Given the description of an element on the screen output the (x, y) to click on. 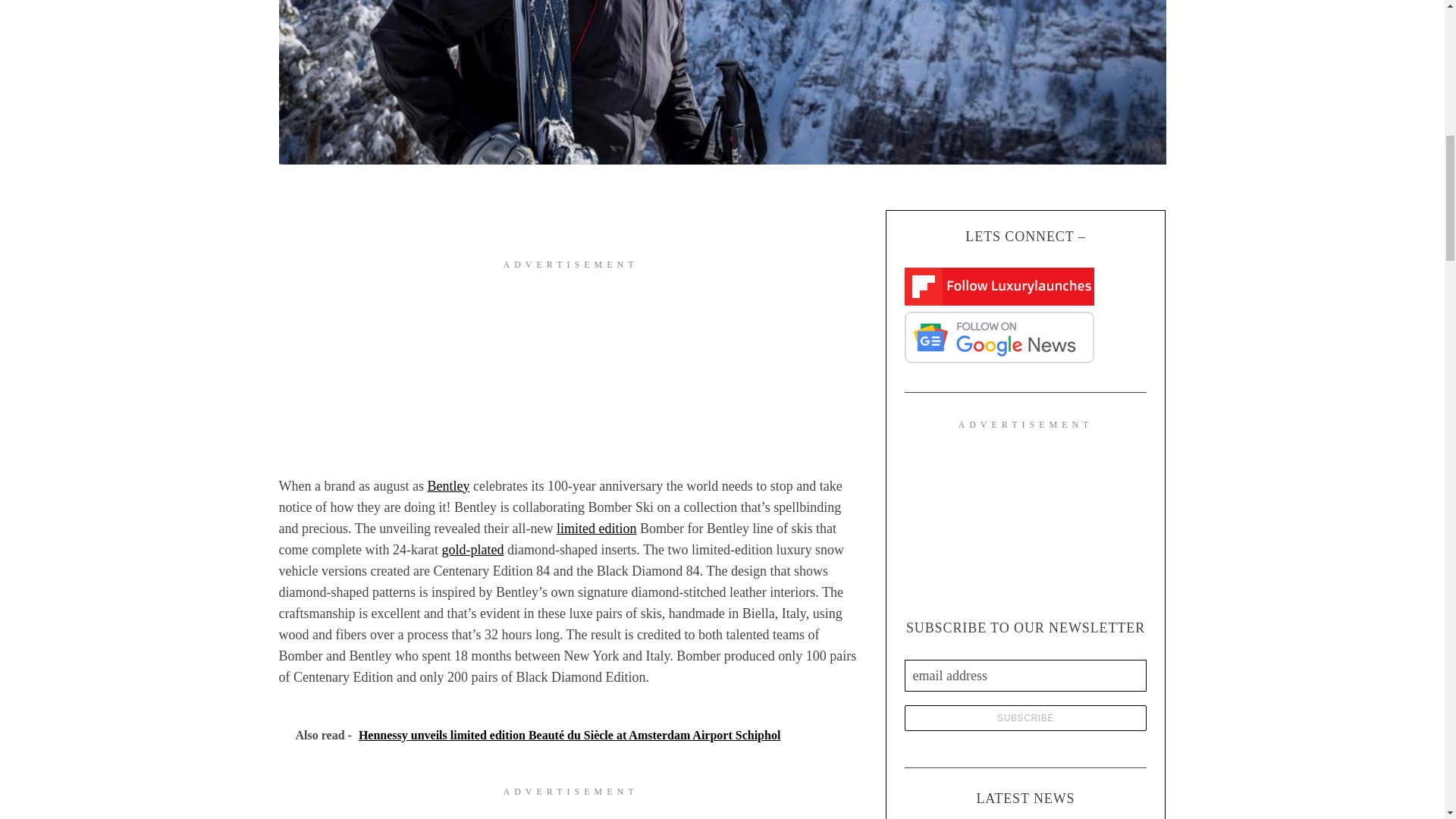
gold-plated (472, 548)
Subscribe (1025, 717)
limited edition (596, 527)
Bentley (447, 485)
